Given the description of an element on the screen output the (x, y) to click on. 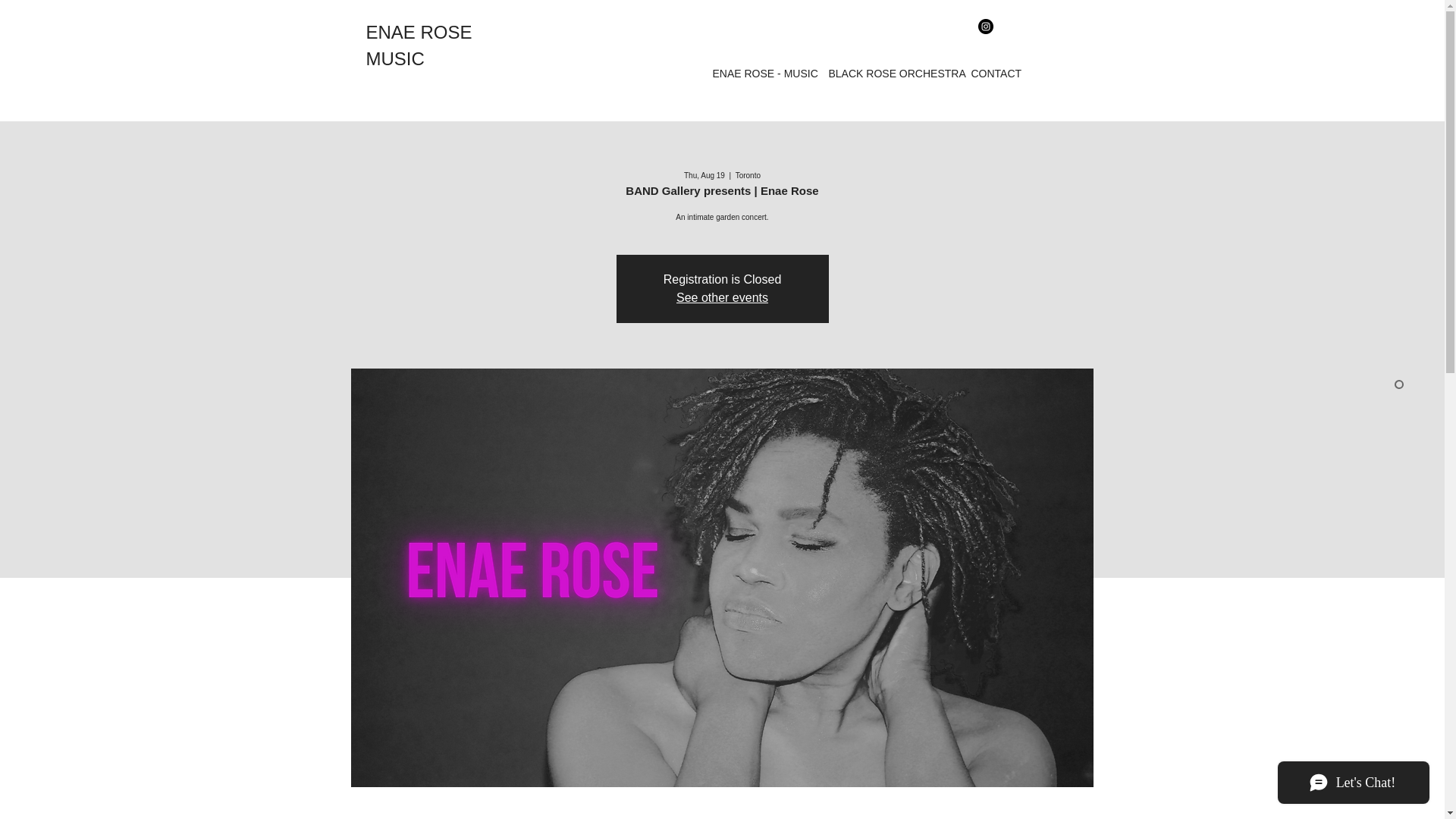
ENAE ROSE - MUSIC (762, 73)
ENAE ROSE MUSIC (418, 45)
See other events (722, 297)
CONTACT (994, 73)
BLACK ROSE ORCHESTRA (891, 73)
